Given the description of an element on the screen output the (x, y) to click on. 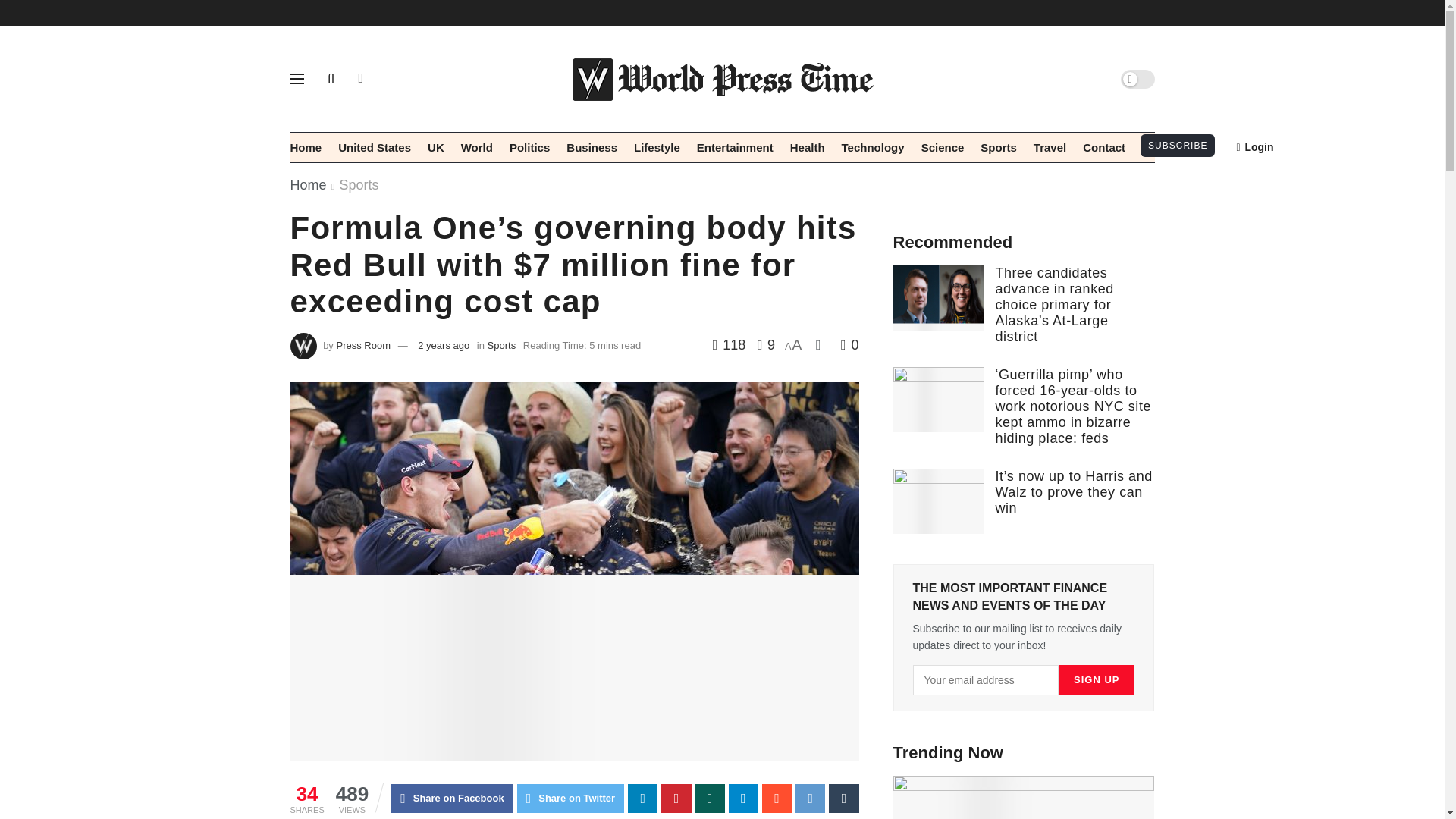
Home (305, 147)
Entertainment (735, 147)
Technology (872, 147)
Science (942, 147)
Contact (1104, 147)
Health (807, 147)
Travel (1049, 147)
United States (373, 147)
Sports (997, 147)
Business (591, 147)
